Given the description of an element on the screen output the (x, y) to click on. 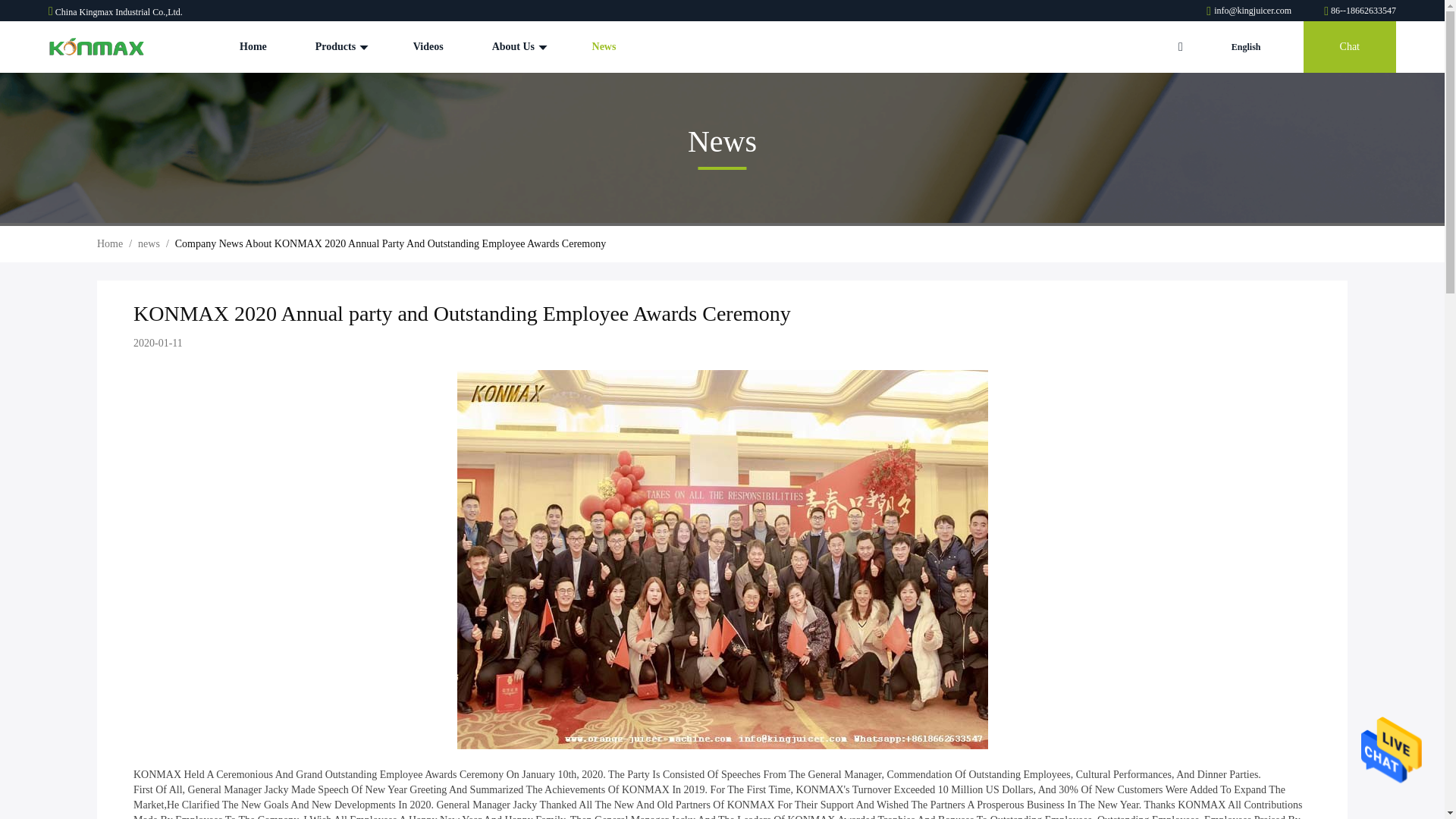
Products (340, 46)
Products (340, 46)
China Kingmax Industrial Co.,ltd. (1250, 9)
About Us (517, 46)
86--18662633547 (1359, 9)
China Kingmax Industrial Co.,ltd. (1359, 9)
China Kingmax Industrial Co.,ltd. (96, 46)
